Given the description of an element on the screen output the (x, y) to click on. 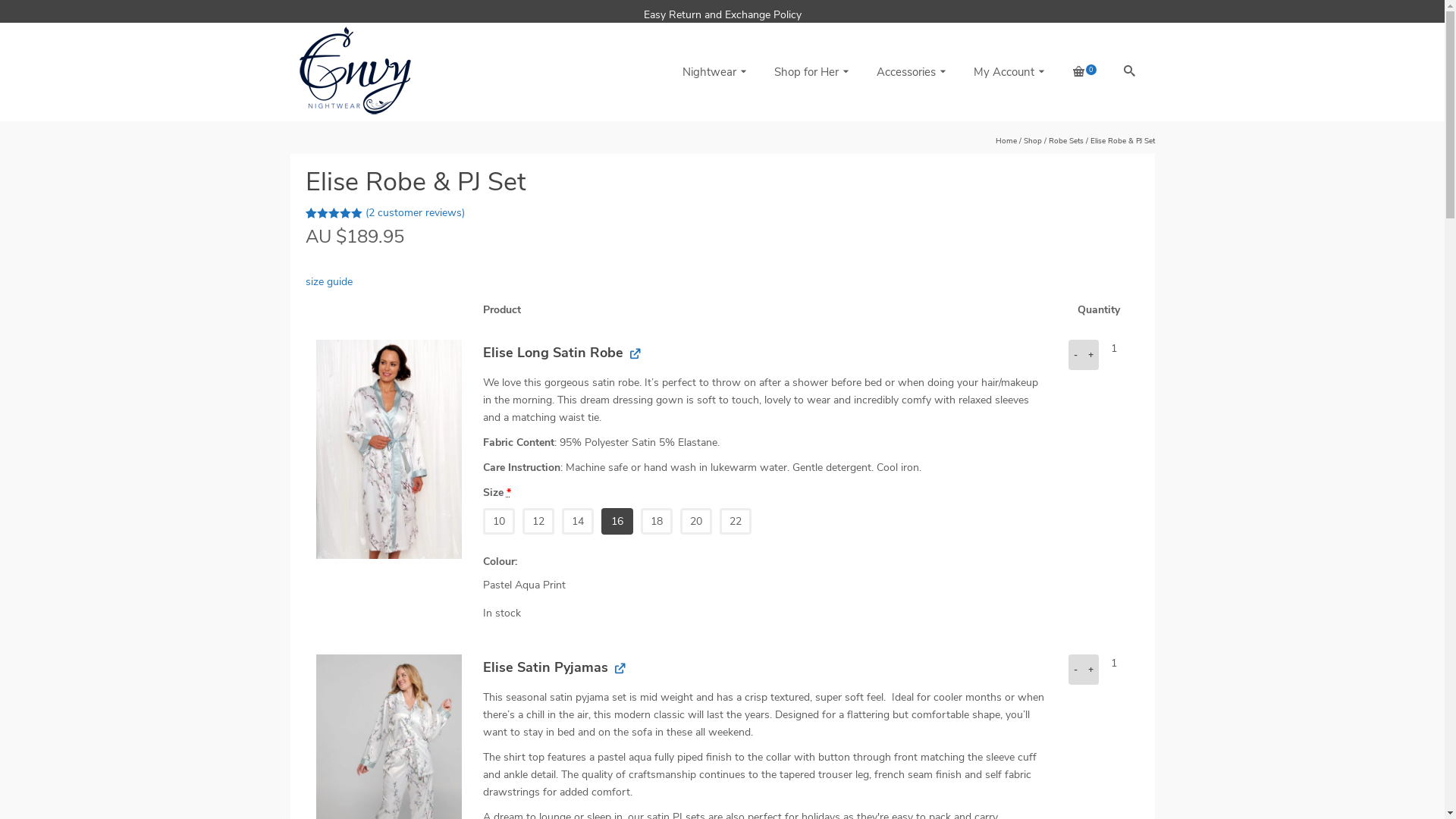
0 Element type: text (1082, 71)
Nightwear Element type: text (713, 71)
Shop for Her Element type: text (810, 71)
(2 customer reviews) Element type: text (414, 212)
size guide Element type: text (721, 281)
My Account Element type: text (1007, 71)
Shop Element type: text (1032, 140)
Robe Sets Element type: text (1065, 140)
Home Element type: text (1005, 140)
Accessories Element type: text (909, 71)
